Given the description of an element on the screen output the (x, y) to click on. 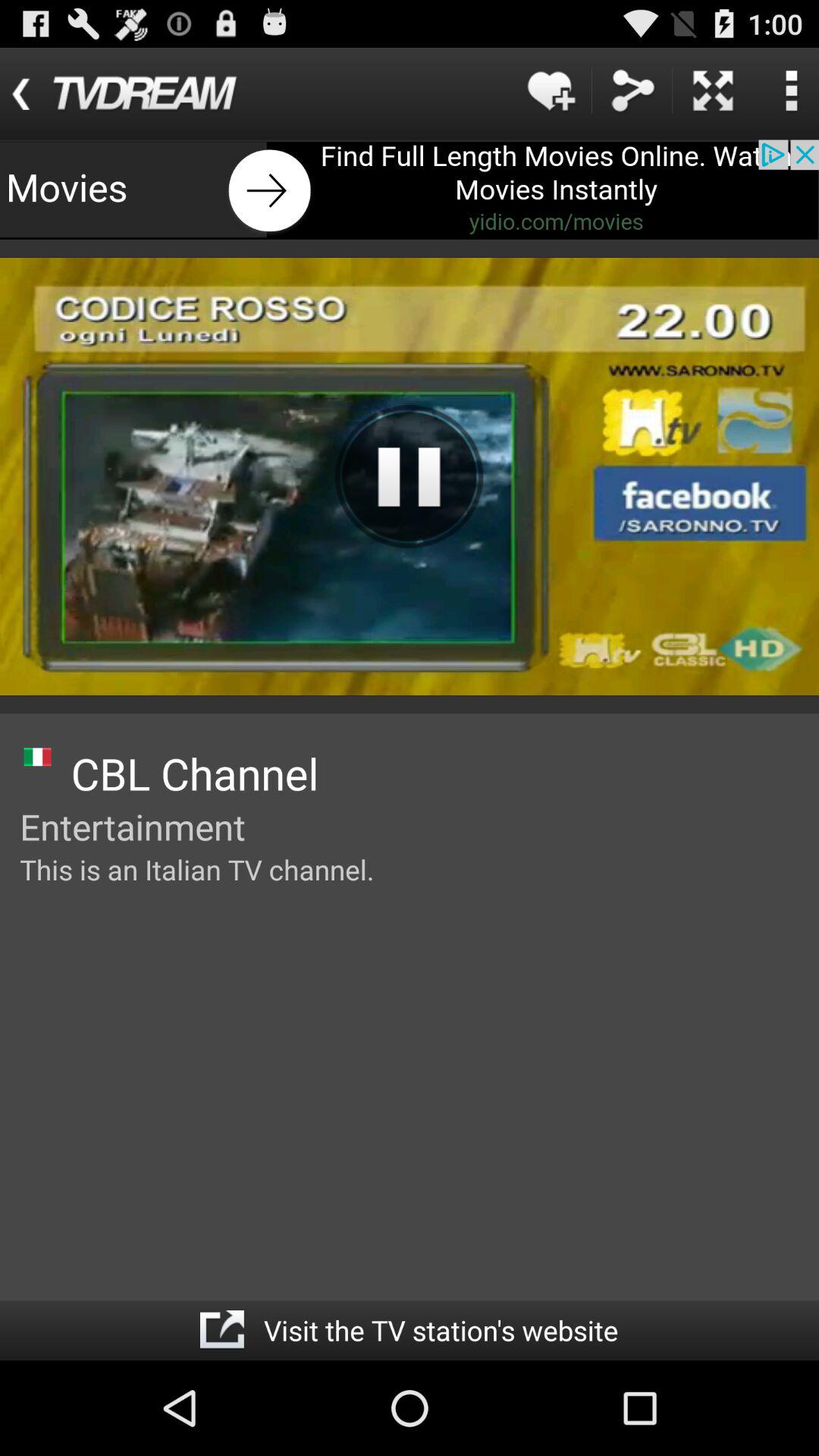
share the article (632, 90)
